Given the description of an element on the screen output the (x, y) to click on. 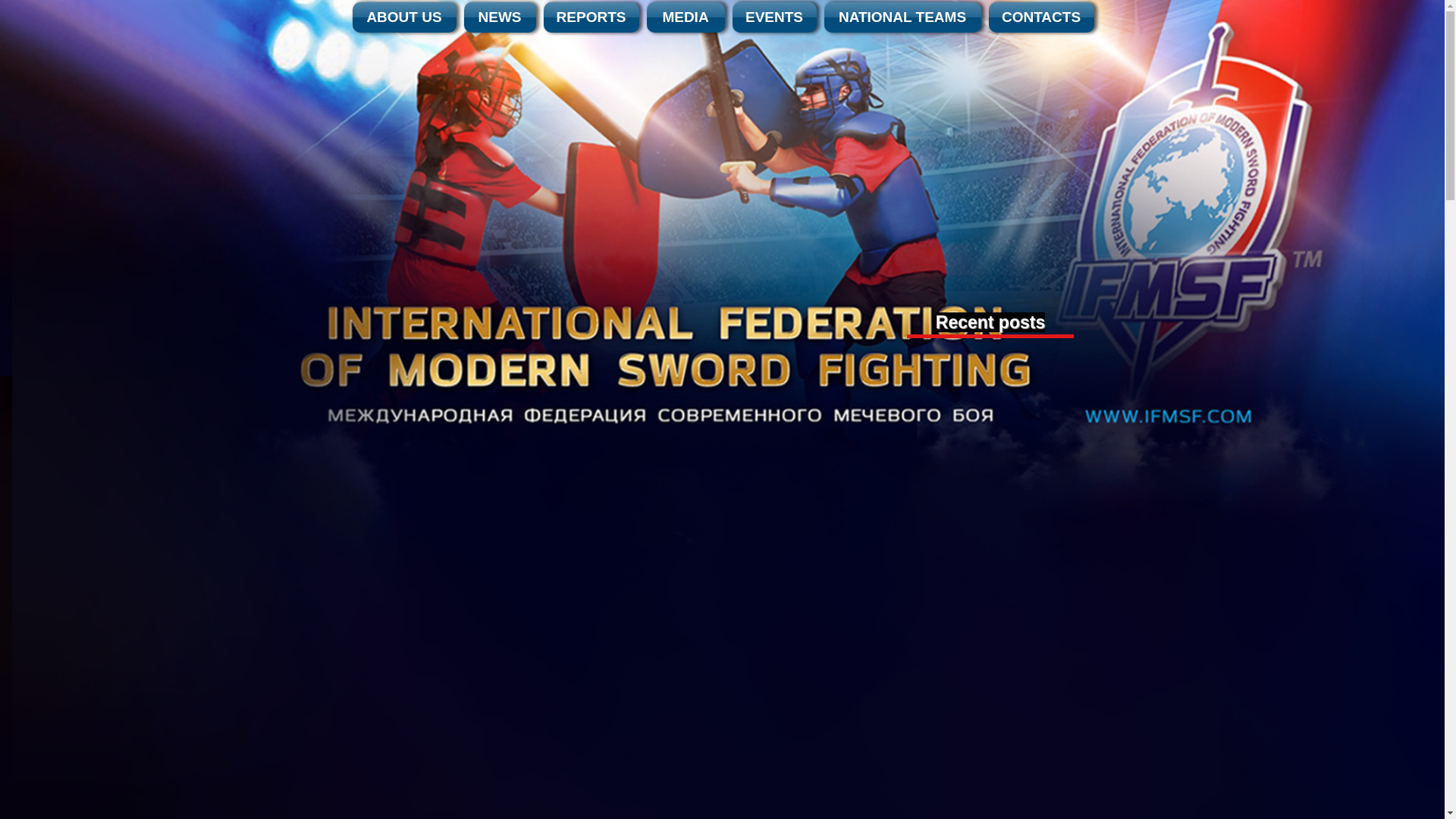
MEDIA (686, 17)
REPORTS (591, 17)
EVENTS (773, 17)
NATIONAL TEAMS (903, 17)
NEWS (499, 17)
ABOUT US (406, 17)
CONTACTS (1038, 17)
